Given the description of an element on the screen output the (x, y) to click on. 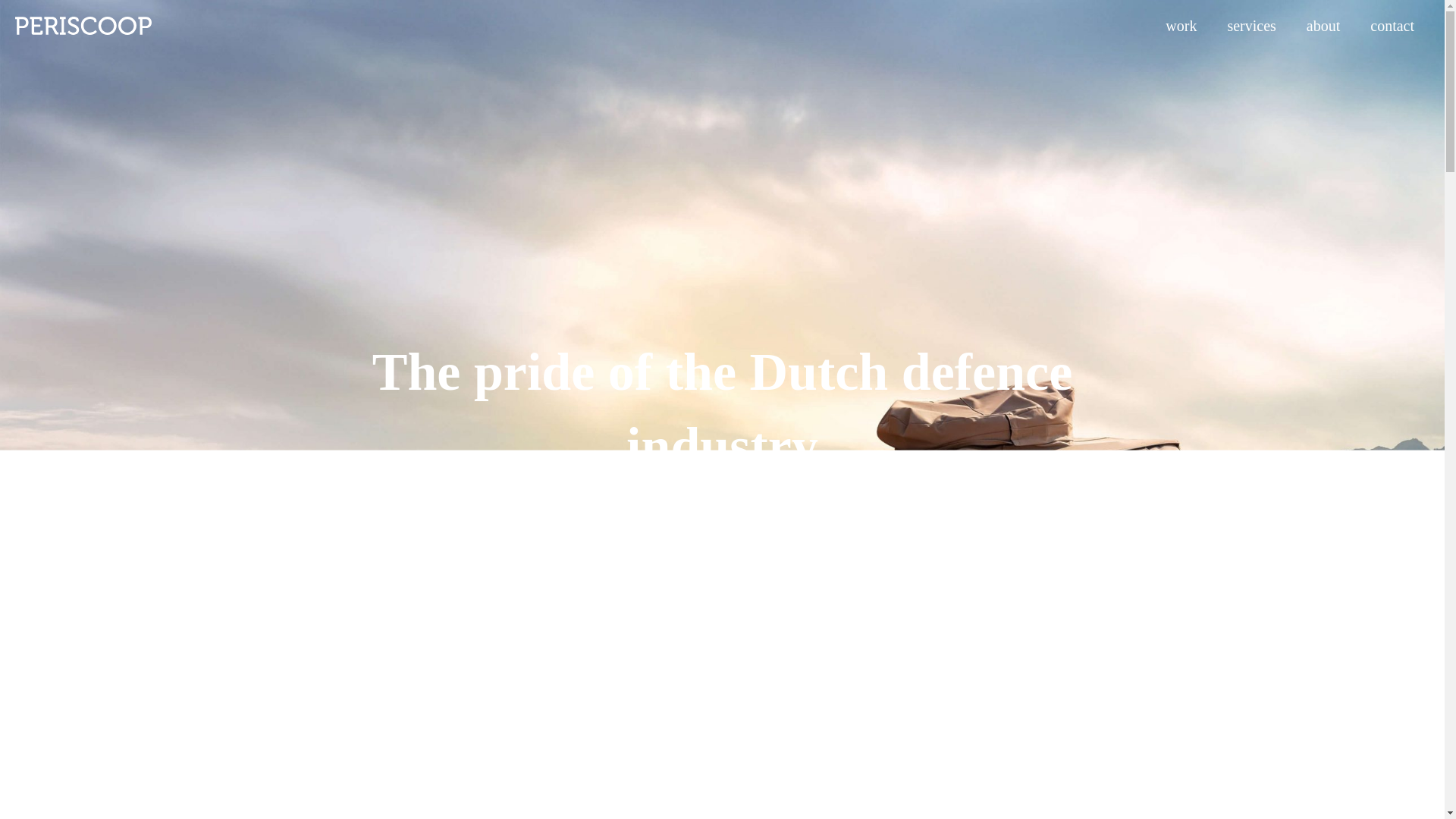
work (1180, 25)
contact (1392, 25)
about (1323, 25)
services (1250, 25)
